Given the description of an element on the screen output the (x, y) to click on. 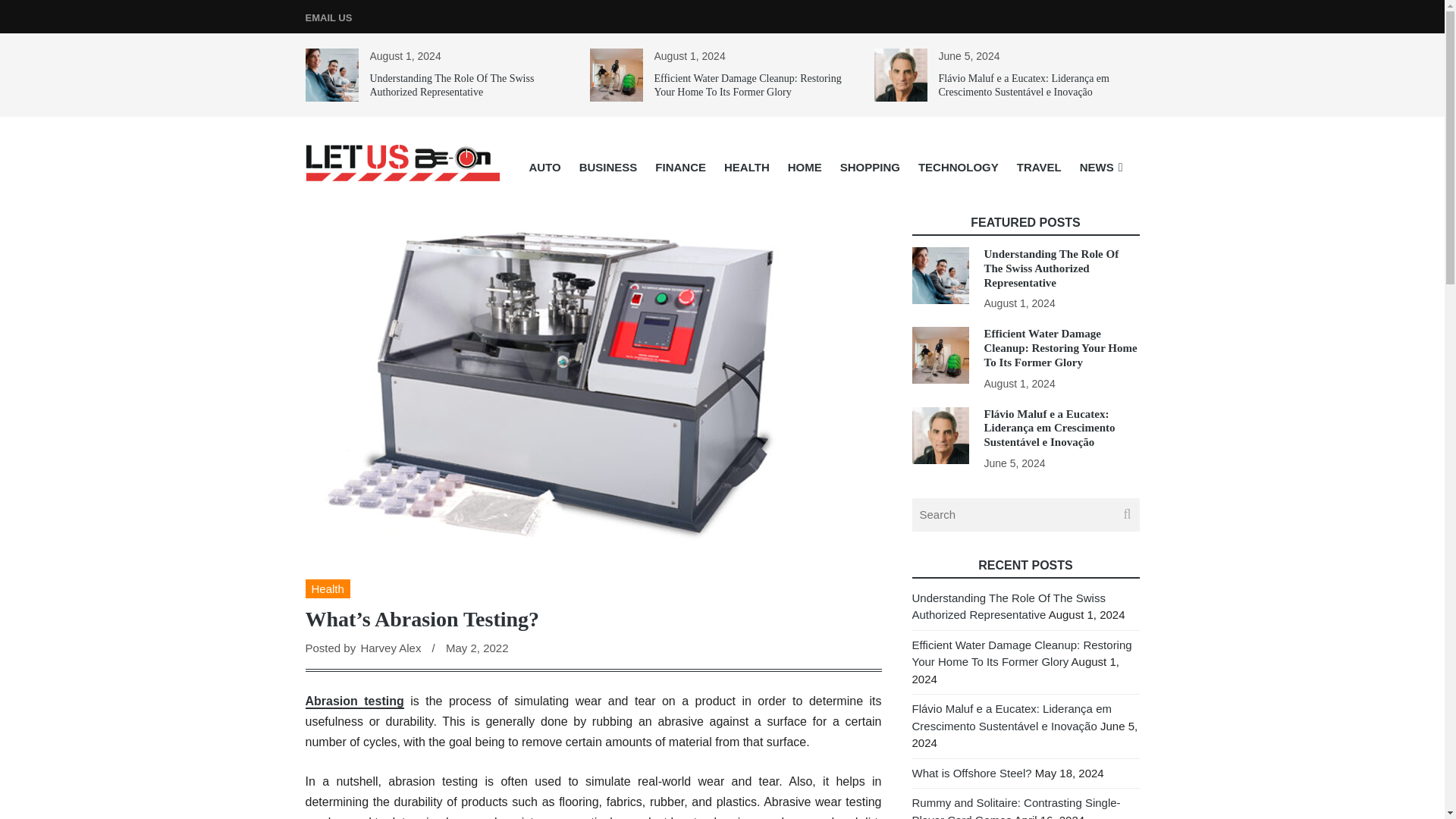
EMAIL US (328, 17)
HOME (804, 167)
SHOPPING (869, 167)
HEALTH (746, 167)
FINANCE (680, 167)
AUTO (544, 167)
TECHNOLOGY (957, 167)
BUSINESS (608, 167)
